Given the description of an element on the screen output the (x, y) to click on. 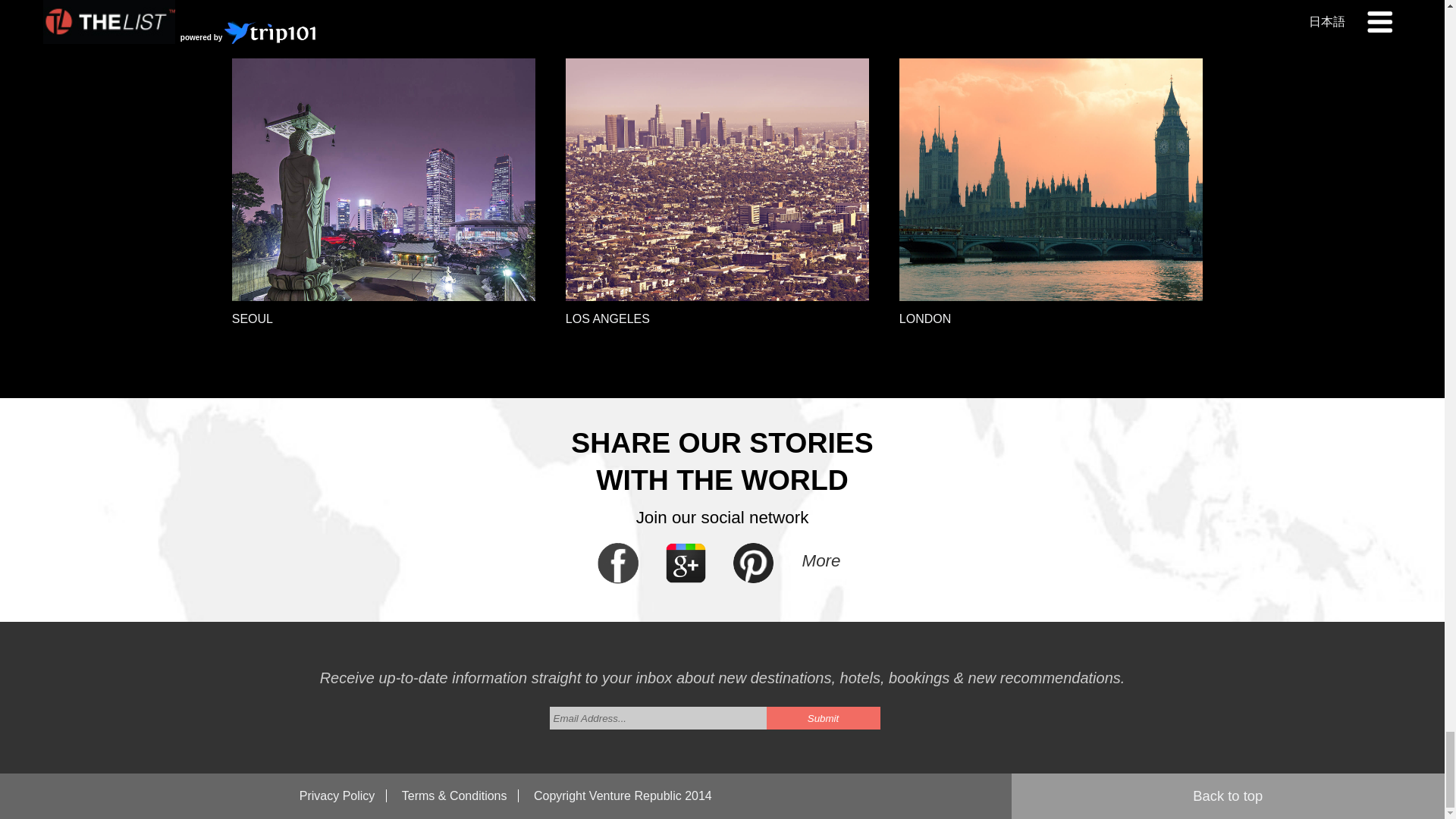
Submit (822, 717)
Email Address... (656, 717)
Facebook (617, 579)
Pinterest (753, 579)
